Given the description of an element on the screen output the (x, y) to click on. 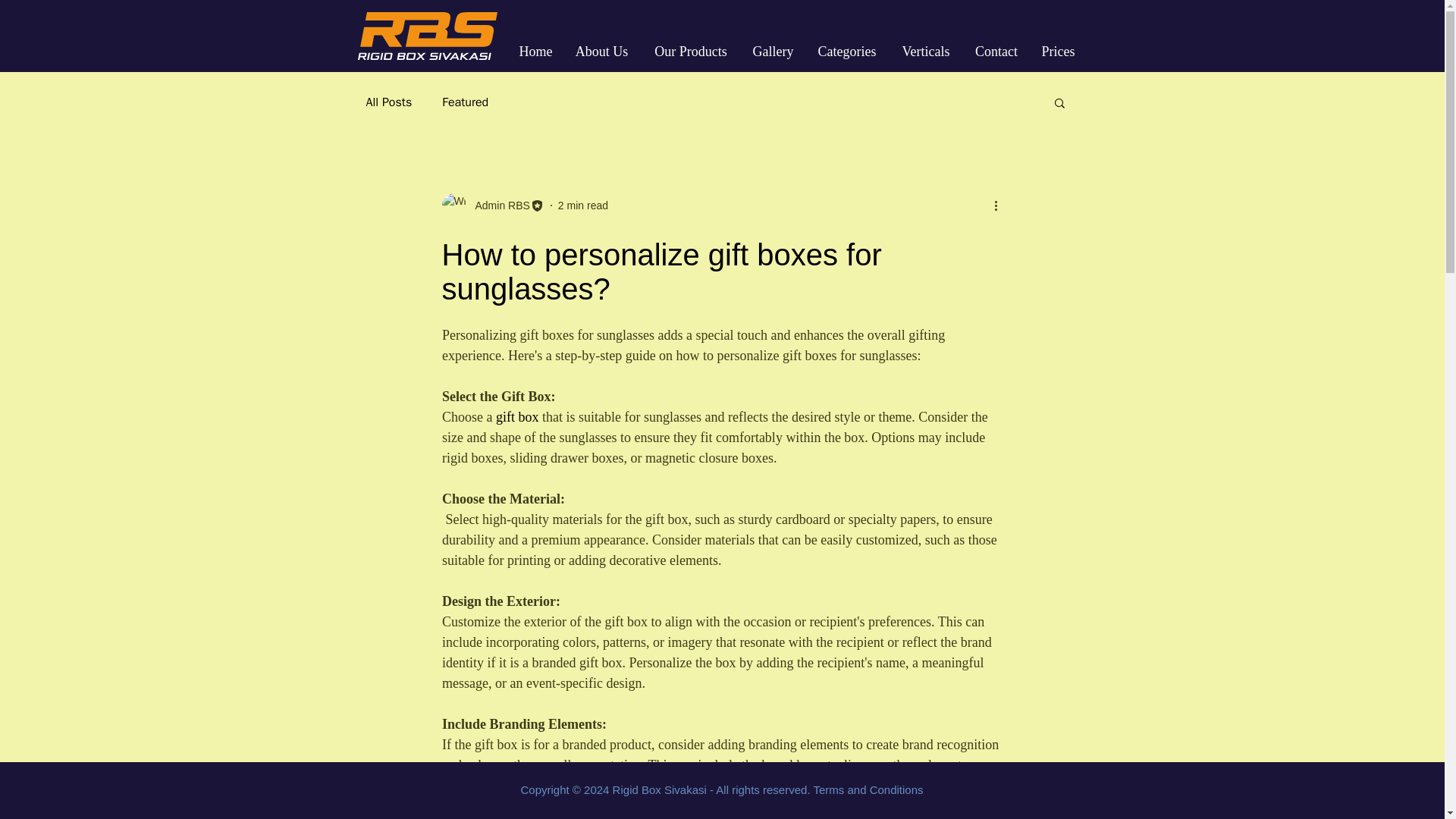
Prices (1058, 51)
Contact (995, 51)
Categories (846, 51)
Terms and Conditions (867, 789)
About Us (602, 51)
2 min read (582, 204)
All Posts (388, 101)
Home (536, 51)
Featured (464, 101)
Gallery (772, 51)
